Given the description of an element on the screen output the (x, y) to click on. 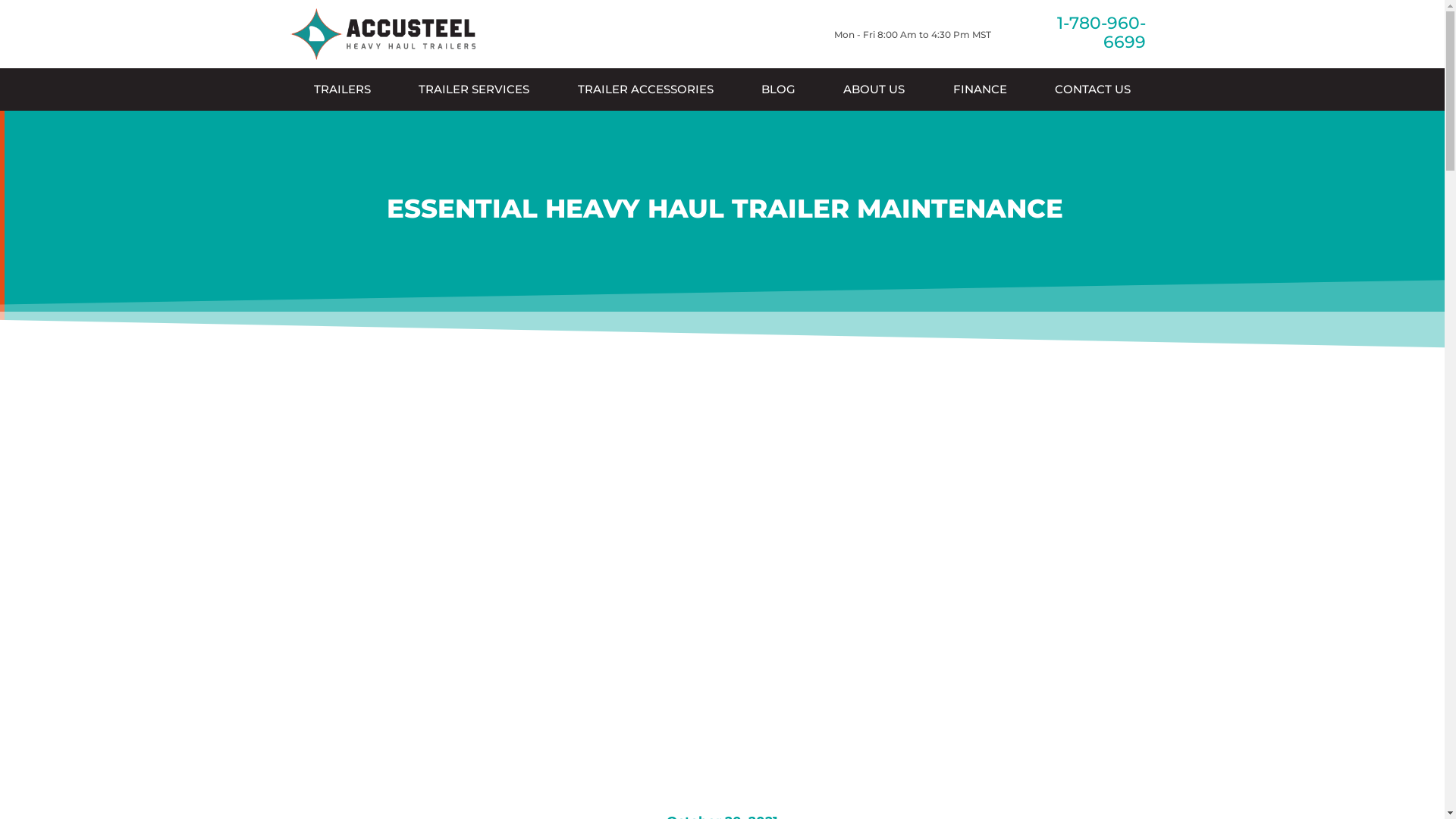
1-780-960-6699 Element type: text (1101, 32)
BLOG Element type: text (778, 89)
TRAILERS Element type: text (341, 89)
TRAILER SERVICES Element type: text (474, 89)
TRAILER ACCESSORIES Element type: text (645, 89)
ABOUT US Element type: text (873, 89)
FINANCE Element type: text (979, 89)
CONTACT US Element type: text (1092, 89)
